Given the description of an element on the screen output the (x, y) to click on. 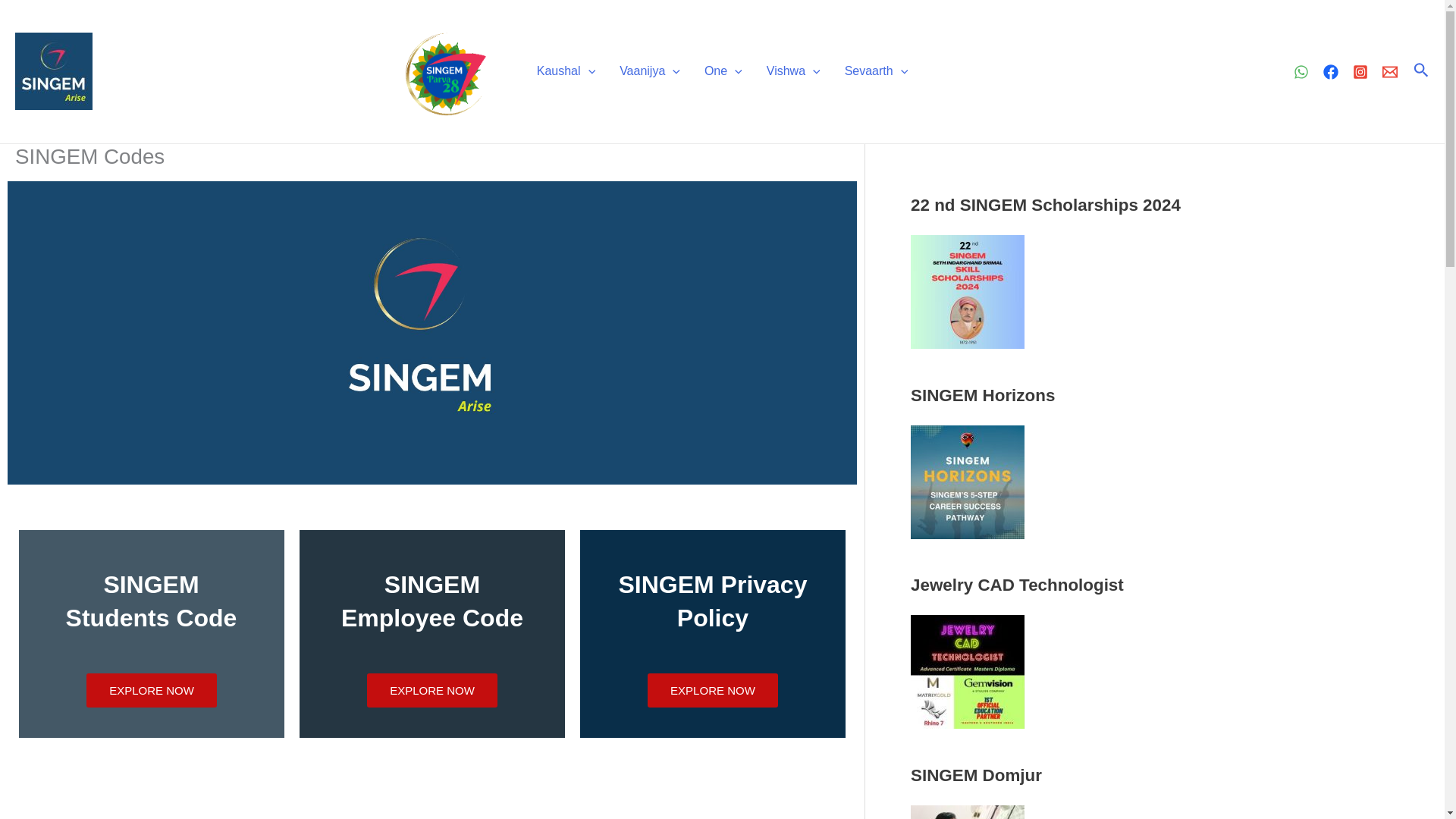
Jewelry CAD Technologist (968, 671)
Kaushal (565, 71)
Vaanijya (650, 71)
SINGEM Summer 360 (968, 481)
SINGEM Domjur (968, 812)
21st SINGEM Scholarships 2023 (968, 291)
